Given the description of an element on the screen output the (x, y) to click on. 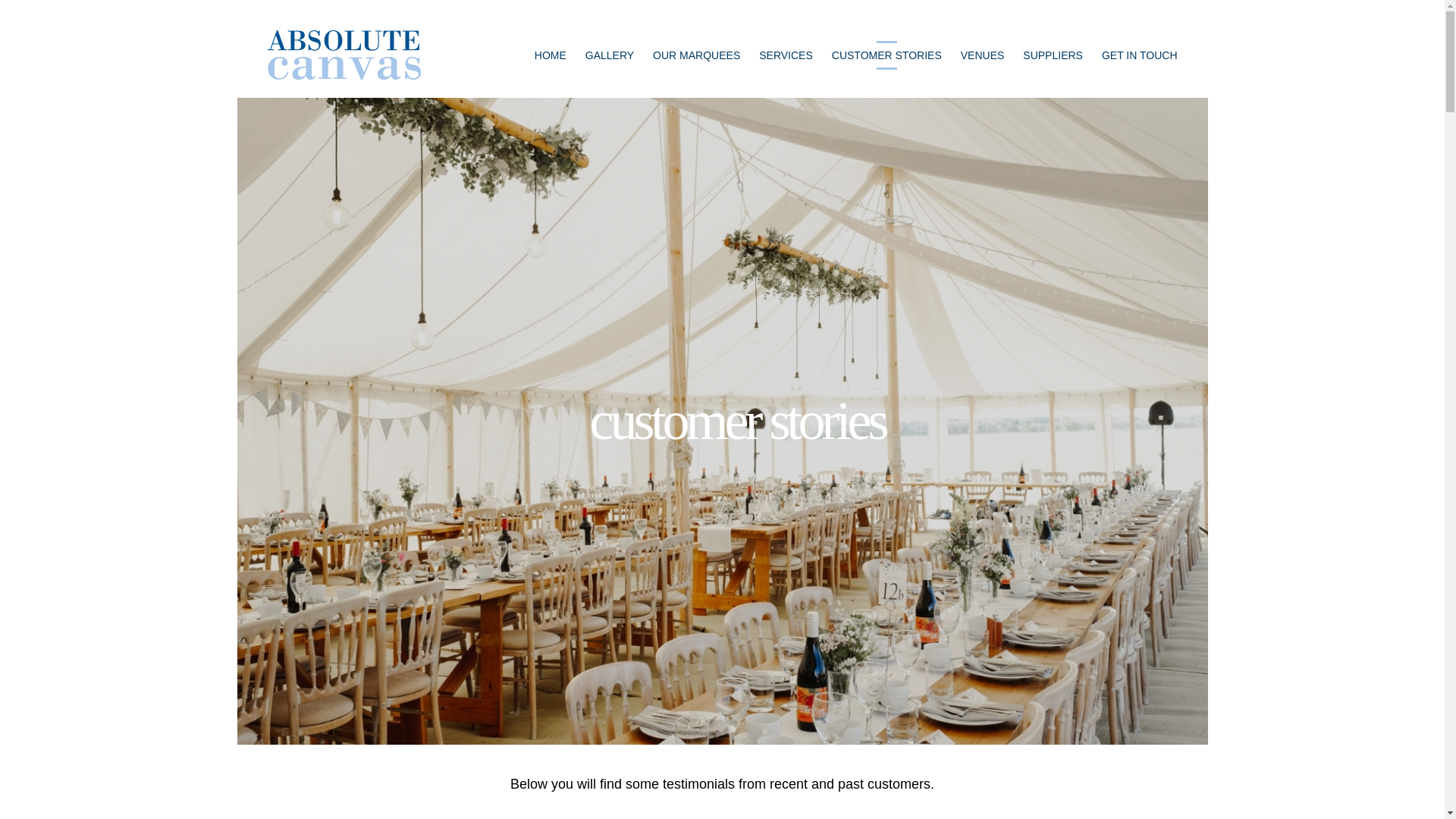
SUPPLIERS (1053, 54)
GET IN TOUCH (1139, 54)
VENUES (982, 54)
GALLERY (609, 54)
OUR MARQUEES (695, 54)
CUSTOMER STORIES (886, 54)
HOME (550, 54)
SERVICES (785, 54)
